Given the description of an element on the screen output the (x, y) to click on. 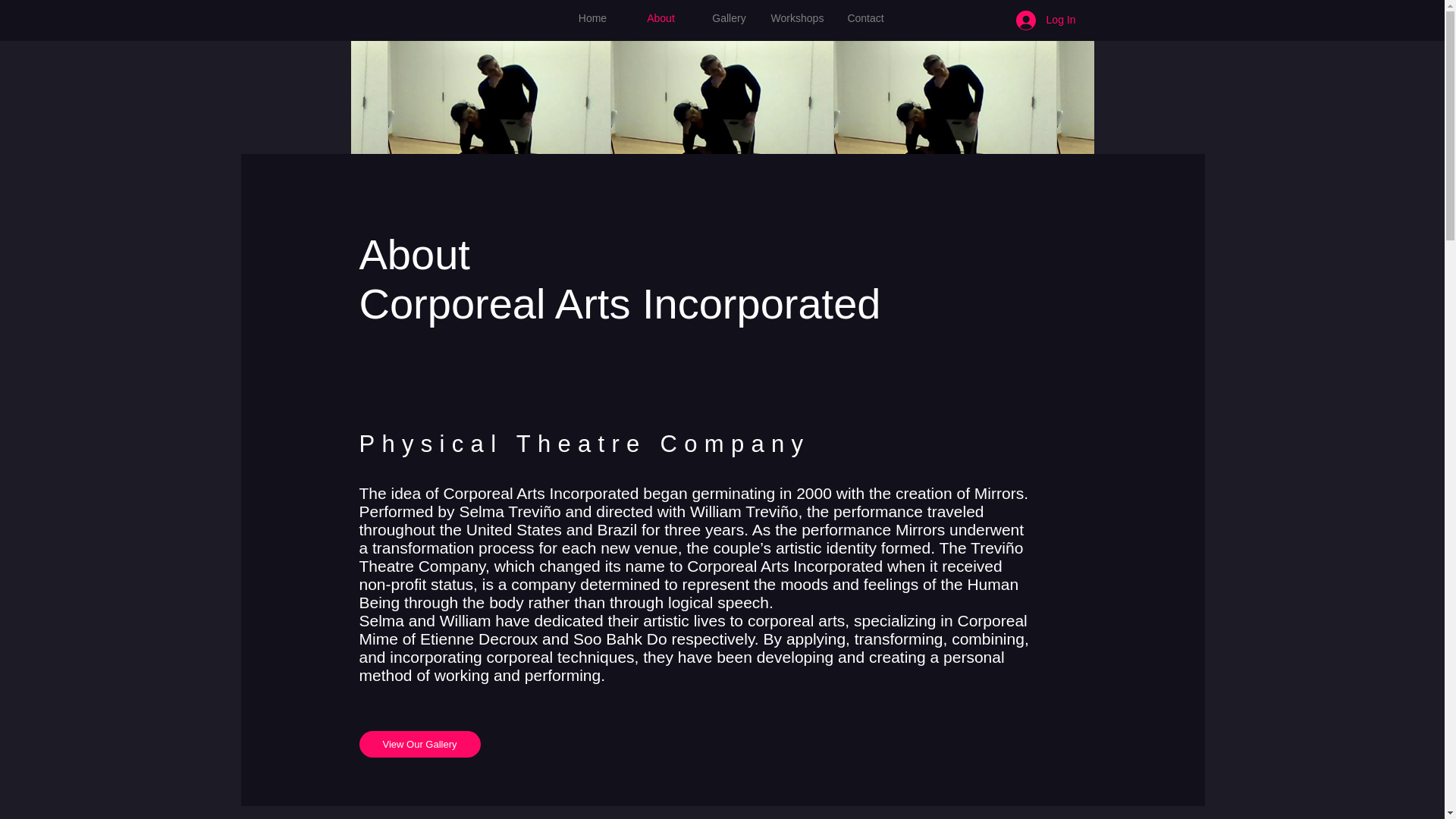
Home (591, 18)
About (660, 18)
Gallery (728, 18)
Contact (865, 18)
View Our Gallery (419, 744)
Log In (1046, 20)
Workshops (796, 18)
